Given the description of an element on the screen output the (x, y) to click on. 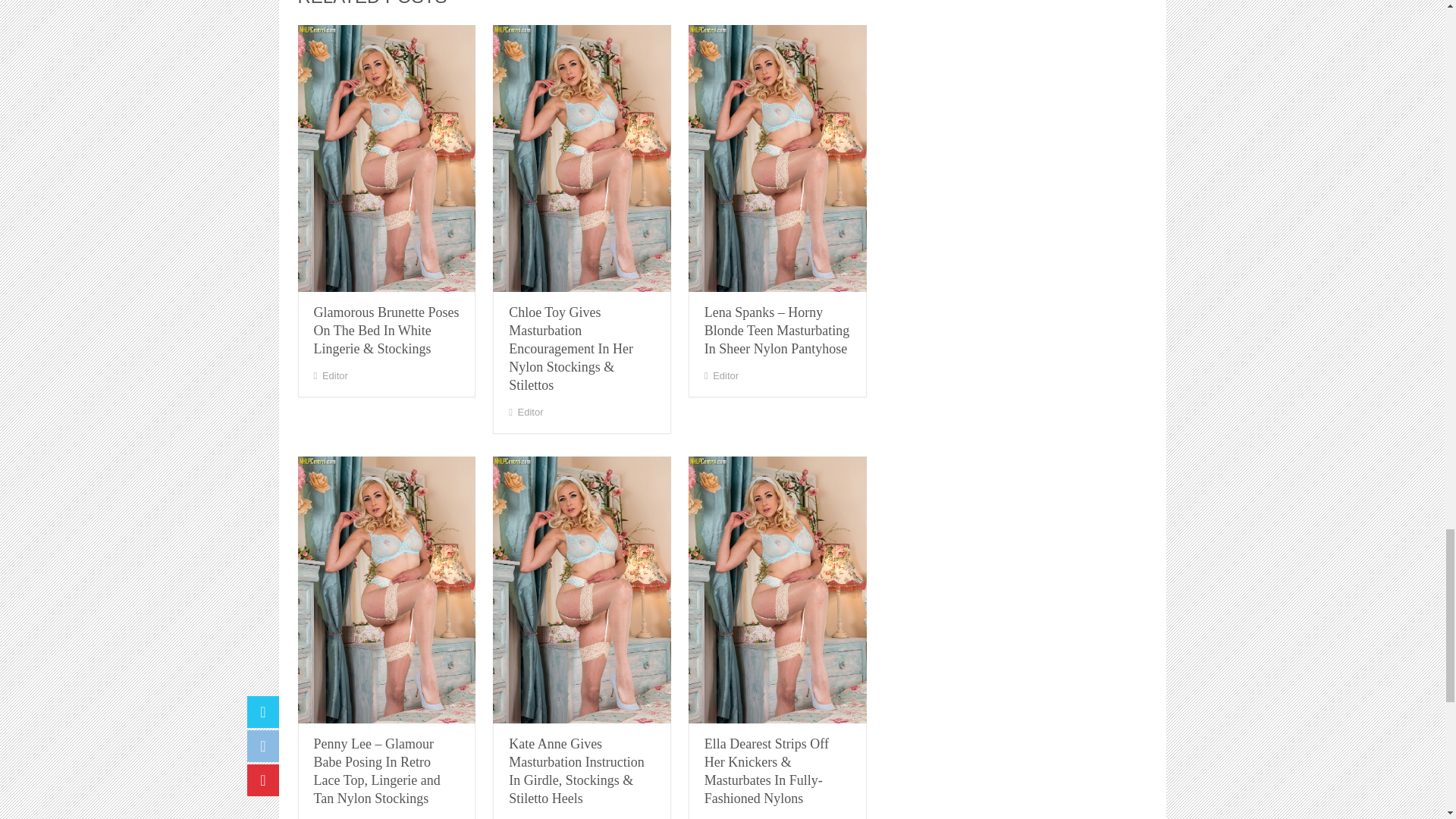
Editor (334, 375)
Editor (530, 411)
Posts by Editor (530, 411)
Posts by Editor (334, 375)
Editor (725, 375)
